Given the description of an element on the screen output the (x, y) to click on. 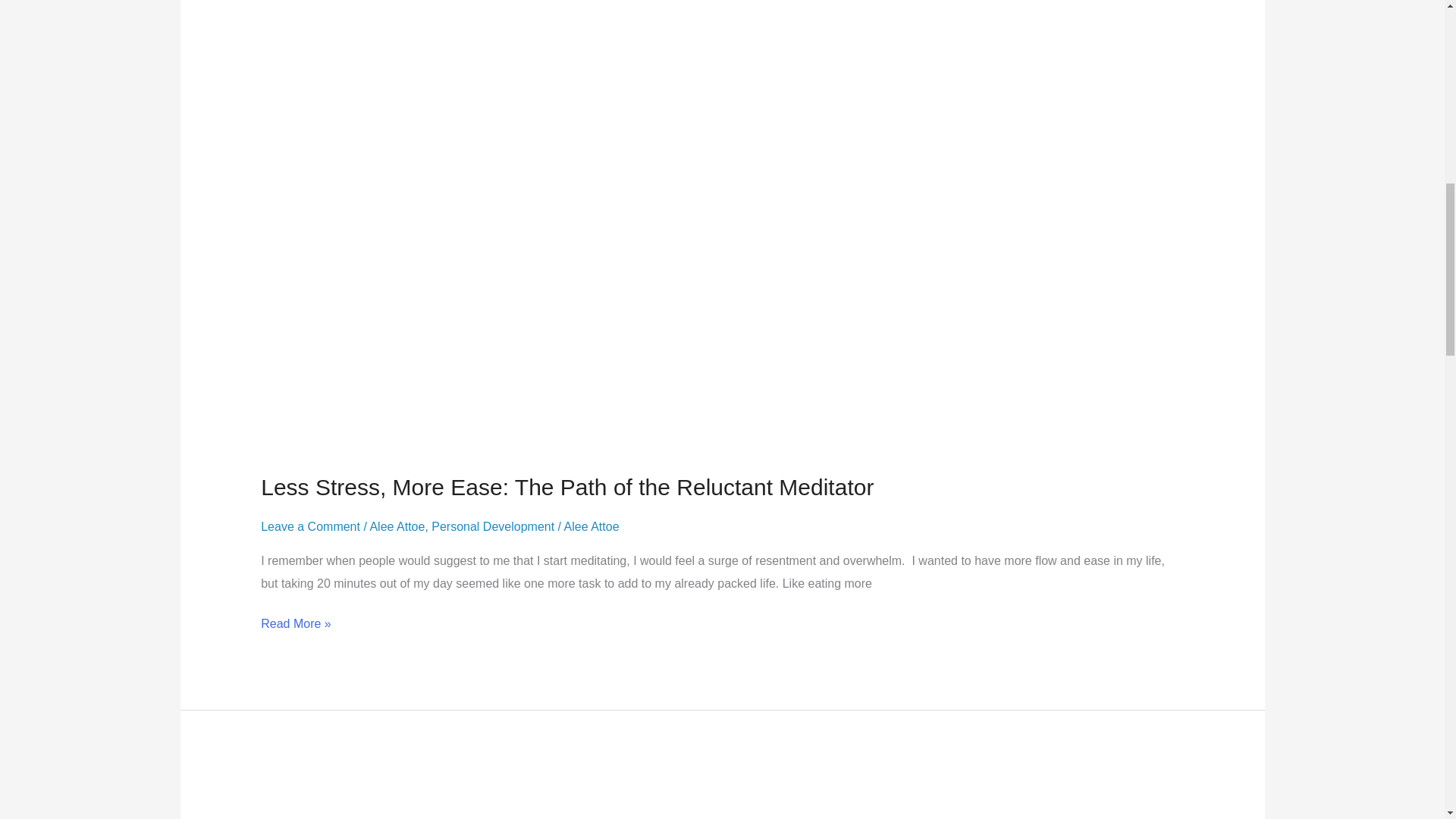
Leave a Comment (309, 526)
Personal Development (492, 526)
View all posts by Alee Attoe (592, 526)
Alee Attoe (397, 526)
Less Stress, More Ease: The Path of the Reluctant Meditator (566, 487)
Alee Attoe (592, 526)
